Given the description of an element on the screen output the (x, y) to click on. 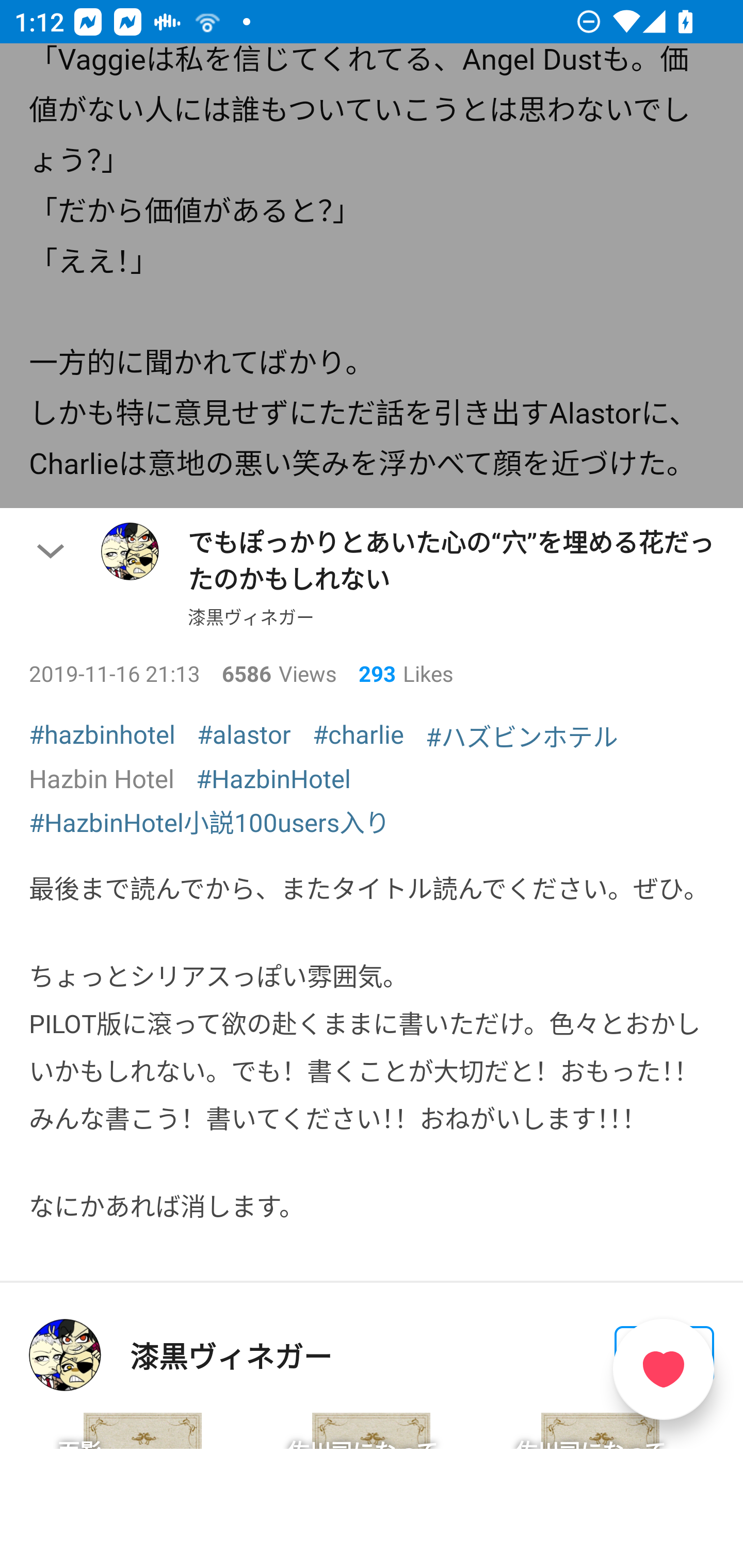
漆黒ヴィネガー (250, 616)
293 (369, 673)
#hazbinhotel (101, 733)
#alastor (243, 733)
#charlie (358, 733)
#ハズビンホテル (521, 735)
Hazbin Hotel (101, 778)
#HazbinHotel (273, 778)
#HazbinHotel小説100users入り (209, 821)
漆黒ヴィネガー (231, 1355)
